Given the description of an element on the screen output the (x, y) to click on. 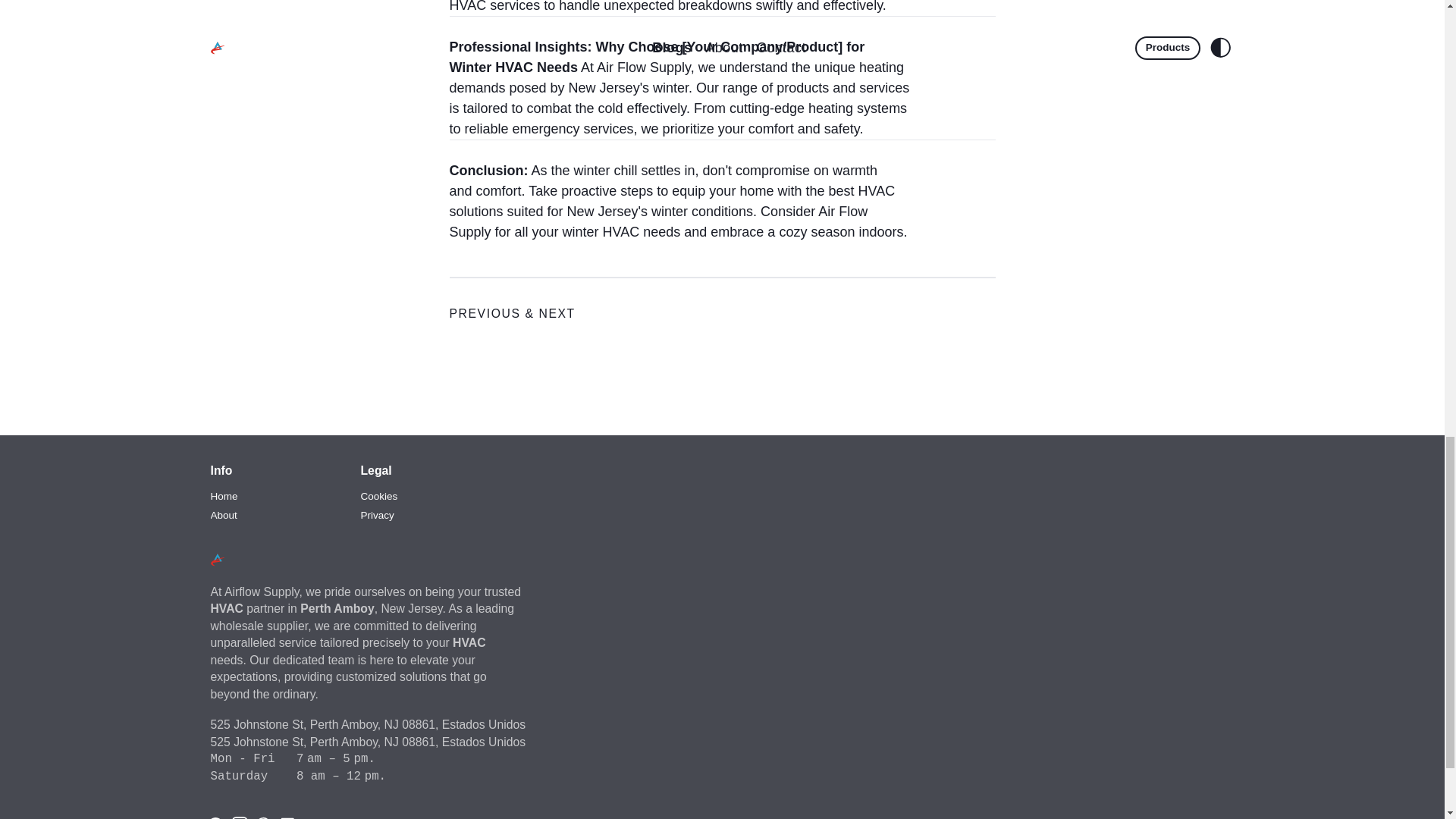
Home (224, 496)
Cookies (379, 496)
About (224, 515)
Privacy (377, 515)
